Given the description of an element on the screen output the (x, y) to click on. 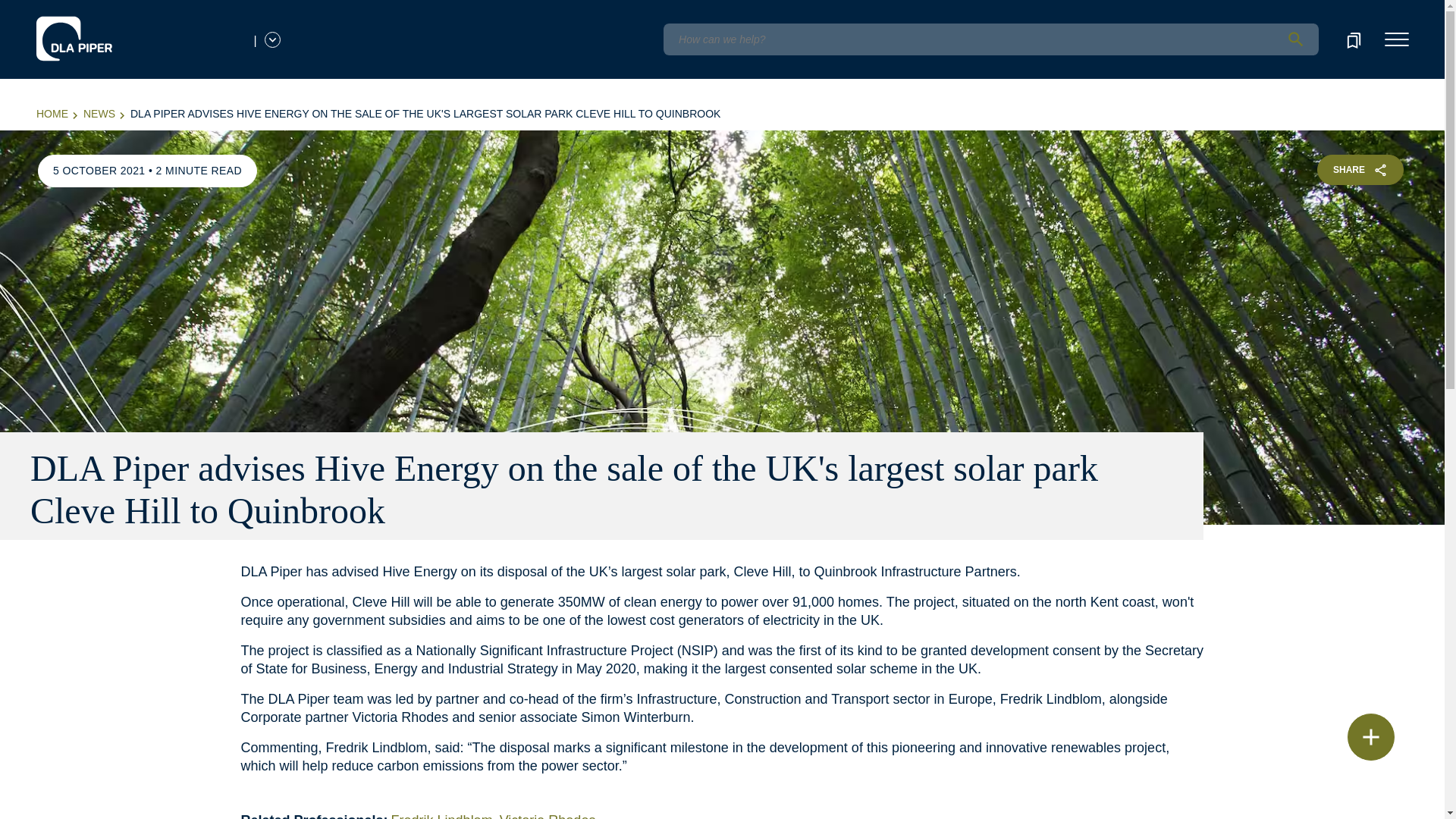
Insert a query. Press enter to send (990, 39)
